Given the description of an element on the screen output the (x, y) to click on. 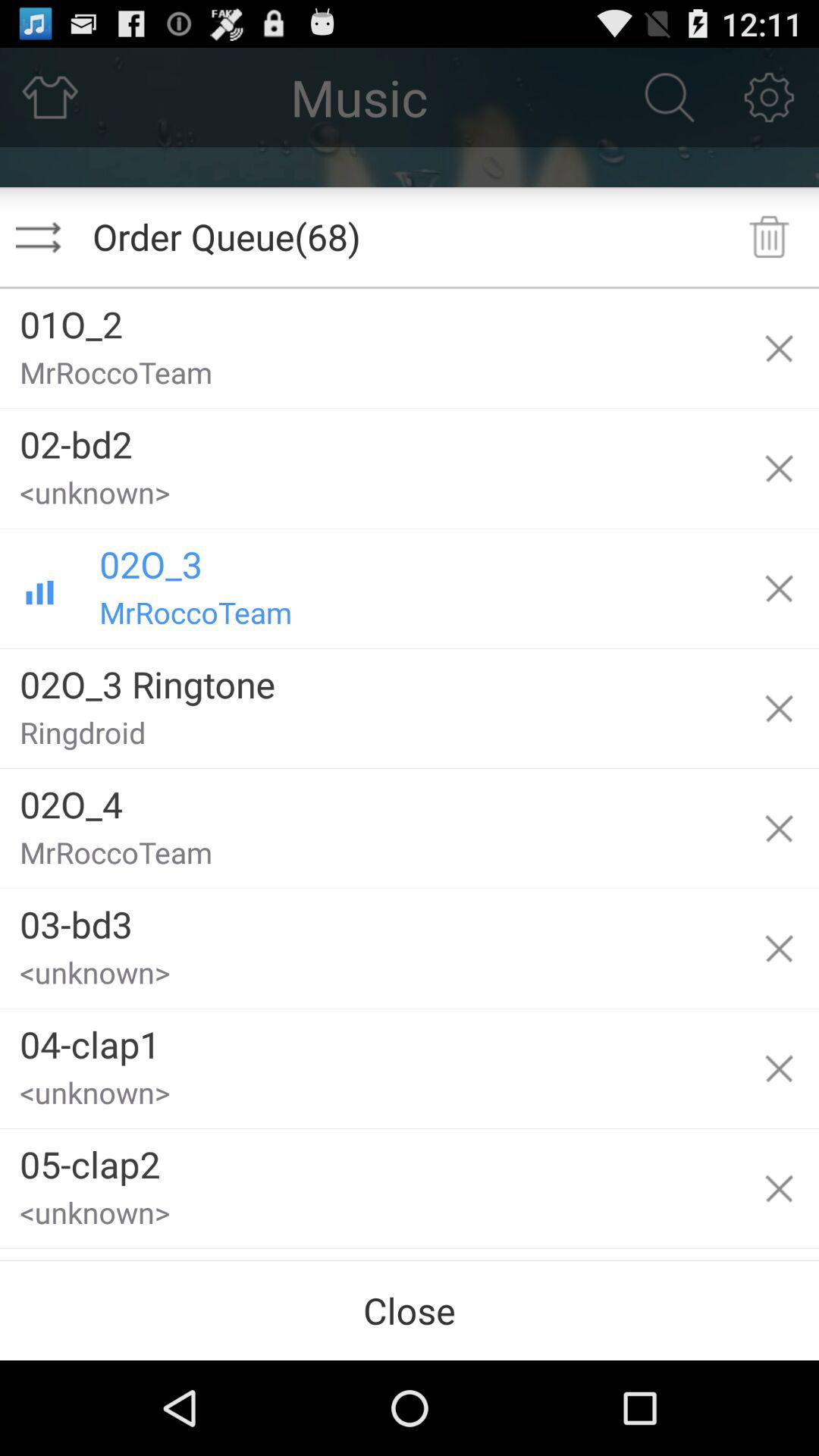
swipe to the ringdroid item (369, 738)
